Given the description of an element on the screen output the (x, y) to click on. 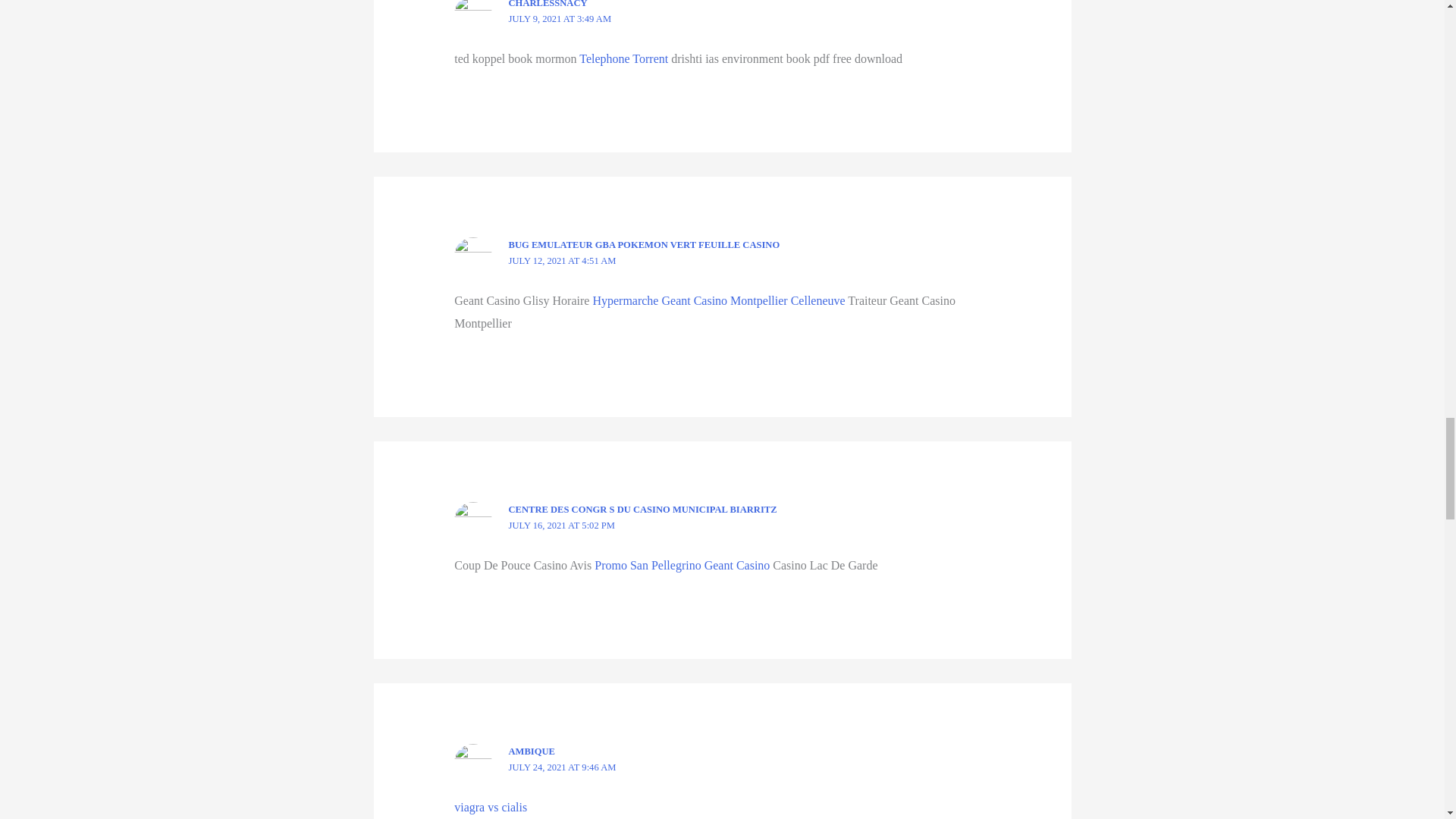
JULY 16, 2021 AT 5:02 PM (561, 525)
AMBIQUE (531, 751)
CHARLESSNACY (548, 4)
JULY 9, 2021 AT 3:49 AM (559, 18)
Hypermarche Geant Casino Montpellier Celleneuve (718, 300)
JULY 24, 2021 AT 9:46 AM (561, 767)
viagra vs cialis (490, 807)
Promo San Pellegrino Geant Casino (682, 564)
JULY 12, 2021 AT 4:51 AM (561, 260)
Telephone Torrent (623, 58)
